Given the description of an element on the screen output the (x, y) to click on. 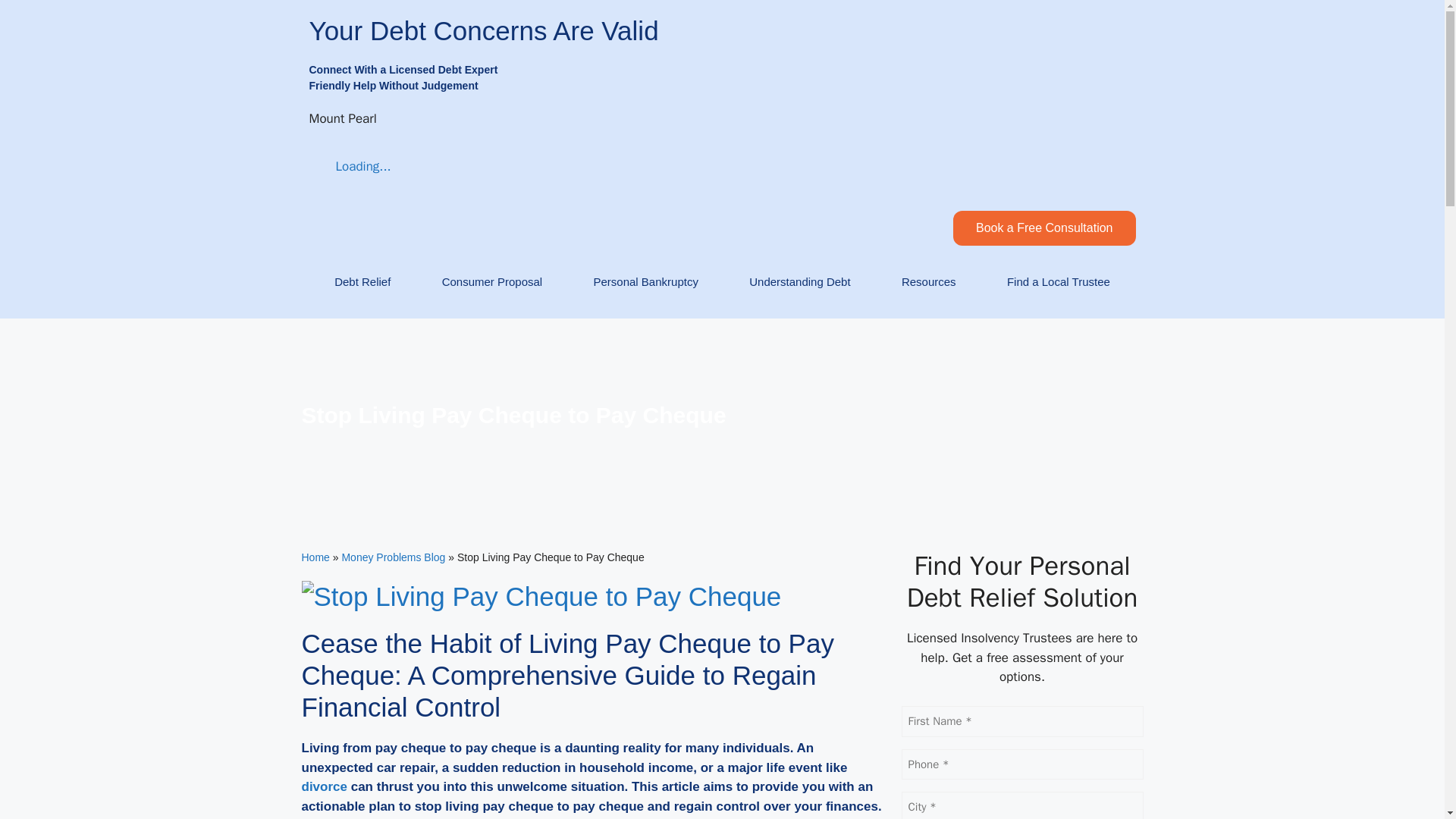
Consumer Proposal (491, 282)
Book a Free Consultation (1044, 227)
Debt Relief (362, 282)
Find a Local Trustee (1058, 282)
Loading... (349, 166)
Understanding Debt (799, 282)
Resources (928, 282)
Personal Bankruptcy (645, 282)
